Given the description of an element on the screen output the (x, y) to click on. 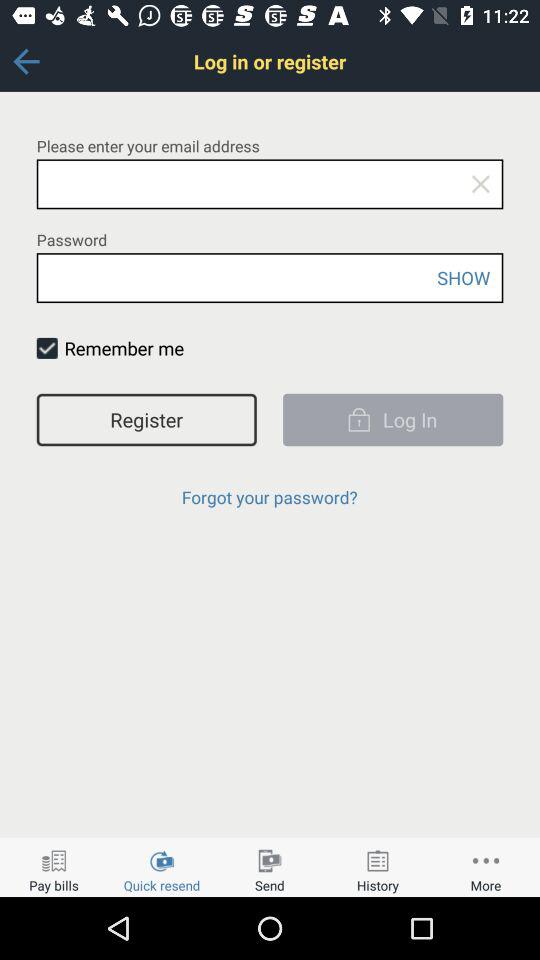
turn off the button above register (46, 347)
